Given the description of an element on the screen output the (x, y) to click on. 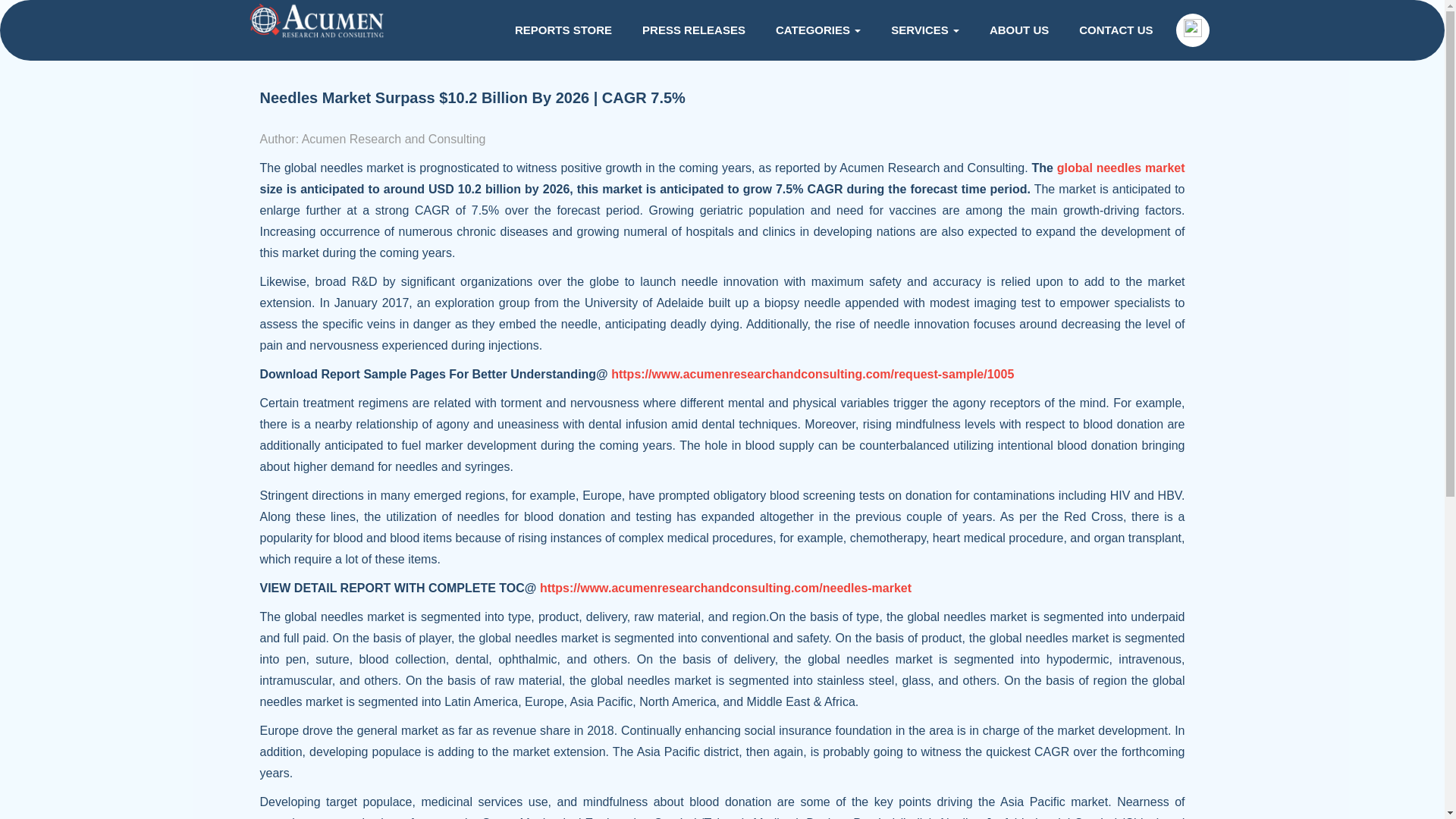
SERVICES (924, 30)
PRESS RELEASES (693, 30)
CONTACT US (1115, 30)
REPORTS STORE (563, 30)
CATEGORIES (817, 30)
ABOUT US (1019, 30)
global needles market (1121, 167)
